Given the description of an element on the screen output the (x, y) to click on. 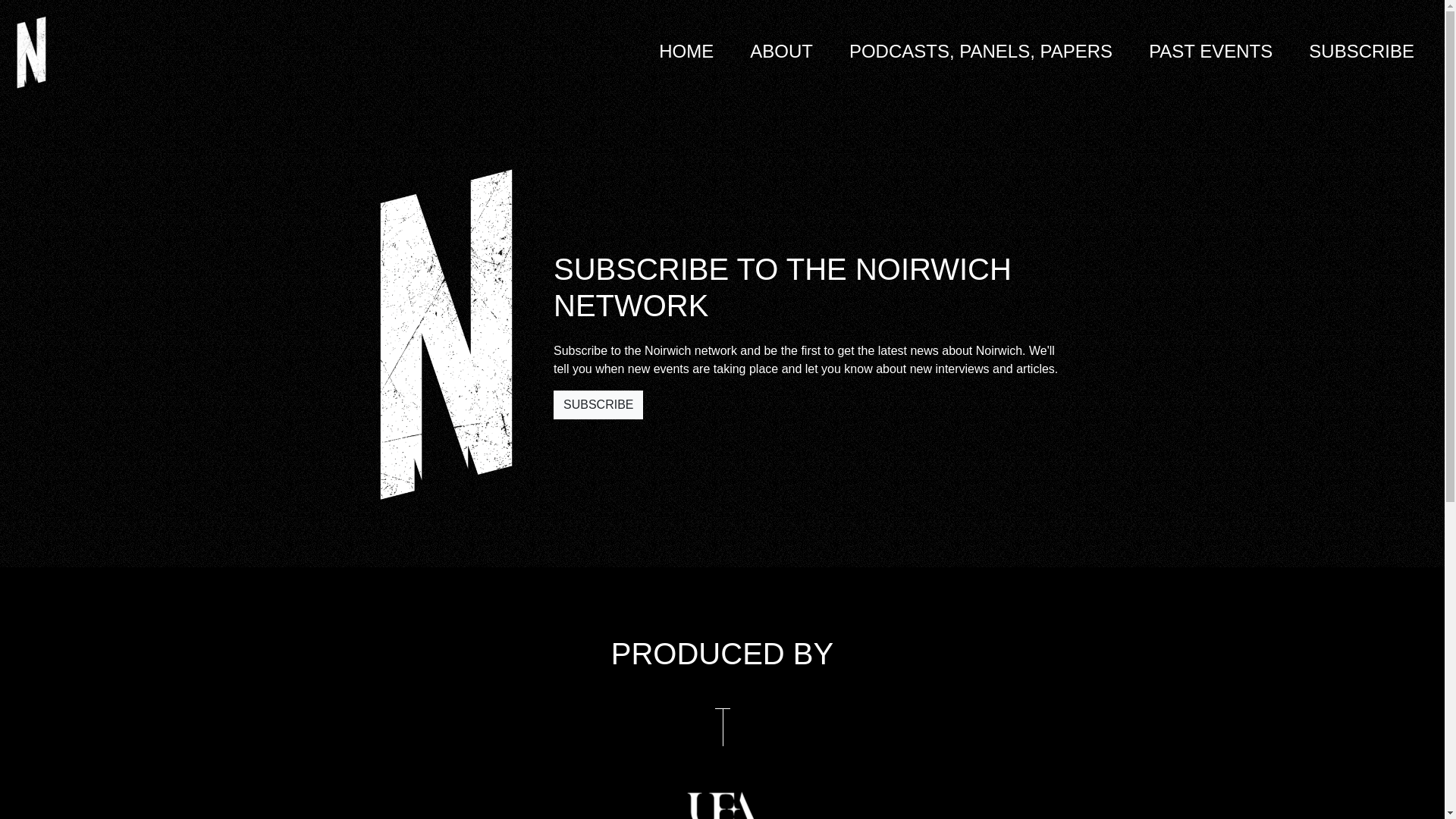
subscribe to our newsletter (598, 404)
PAST EVENTS (1210, 51)
SUBSCRIBE (1360, 51)
ABOUT (780, 51)
PODCASTS, PANELS, PAPERS (980, 51)
SUBSCRIBE (598, 404)
HOME (686, 51)
